Given the description of an element on the screen output the (x, y) to click on. 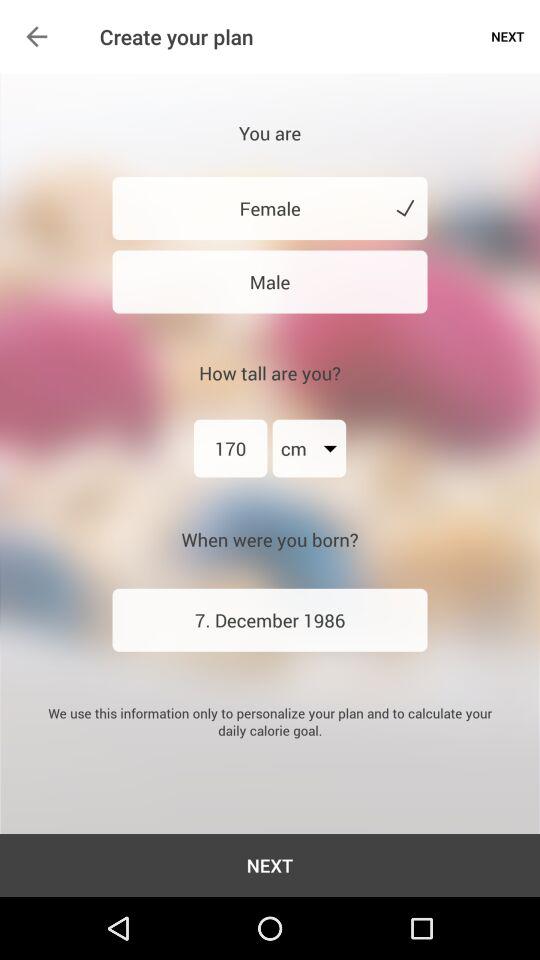
tap the item to the left of the cm item (230, 448)
